Given the description of an element on the screen output the (x, y) to click on. 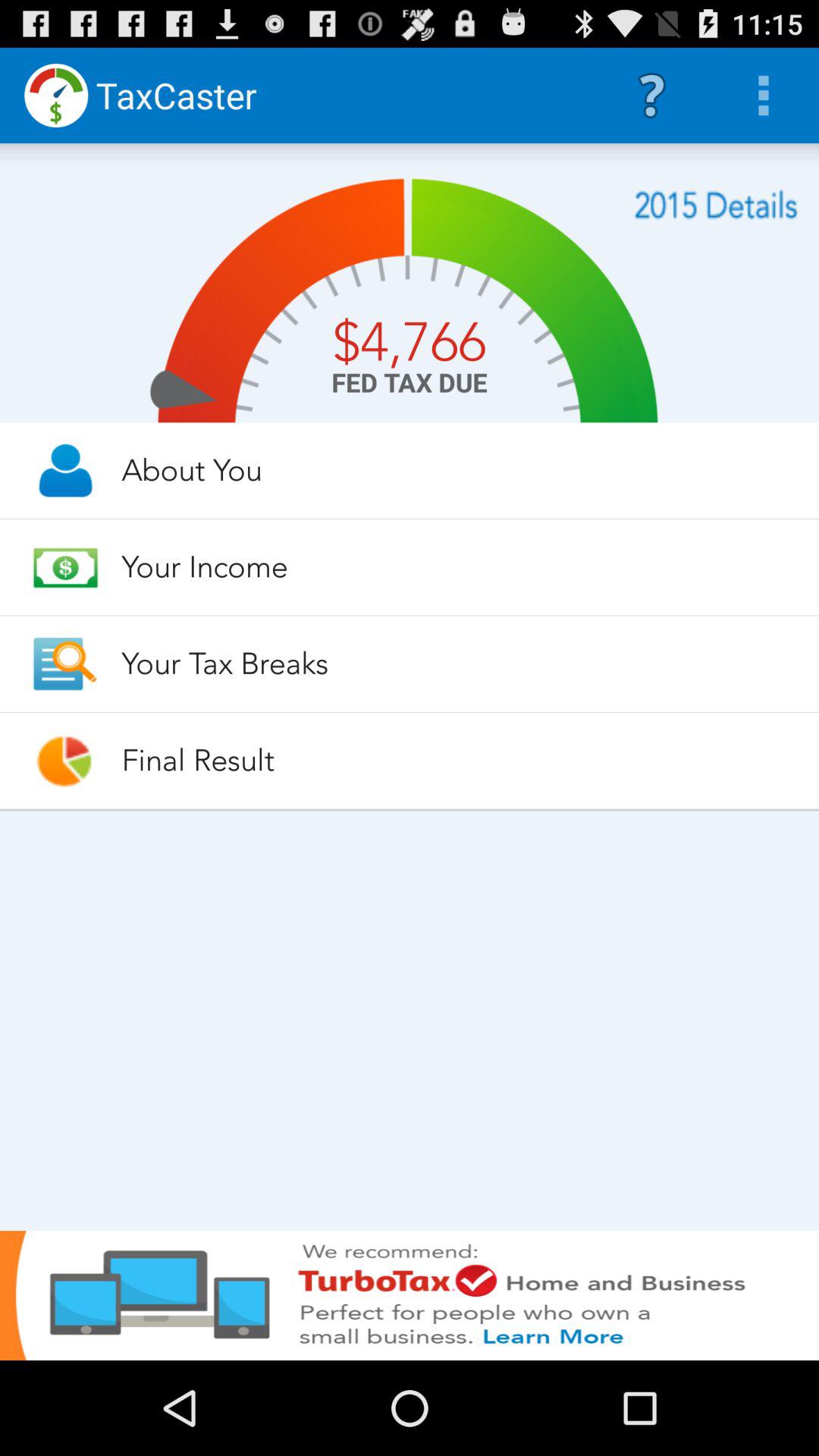
select app next to taxcaster (651, 95)
